Given the description of an element on the screen output the (x, y) to click on. 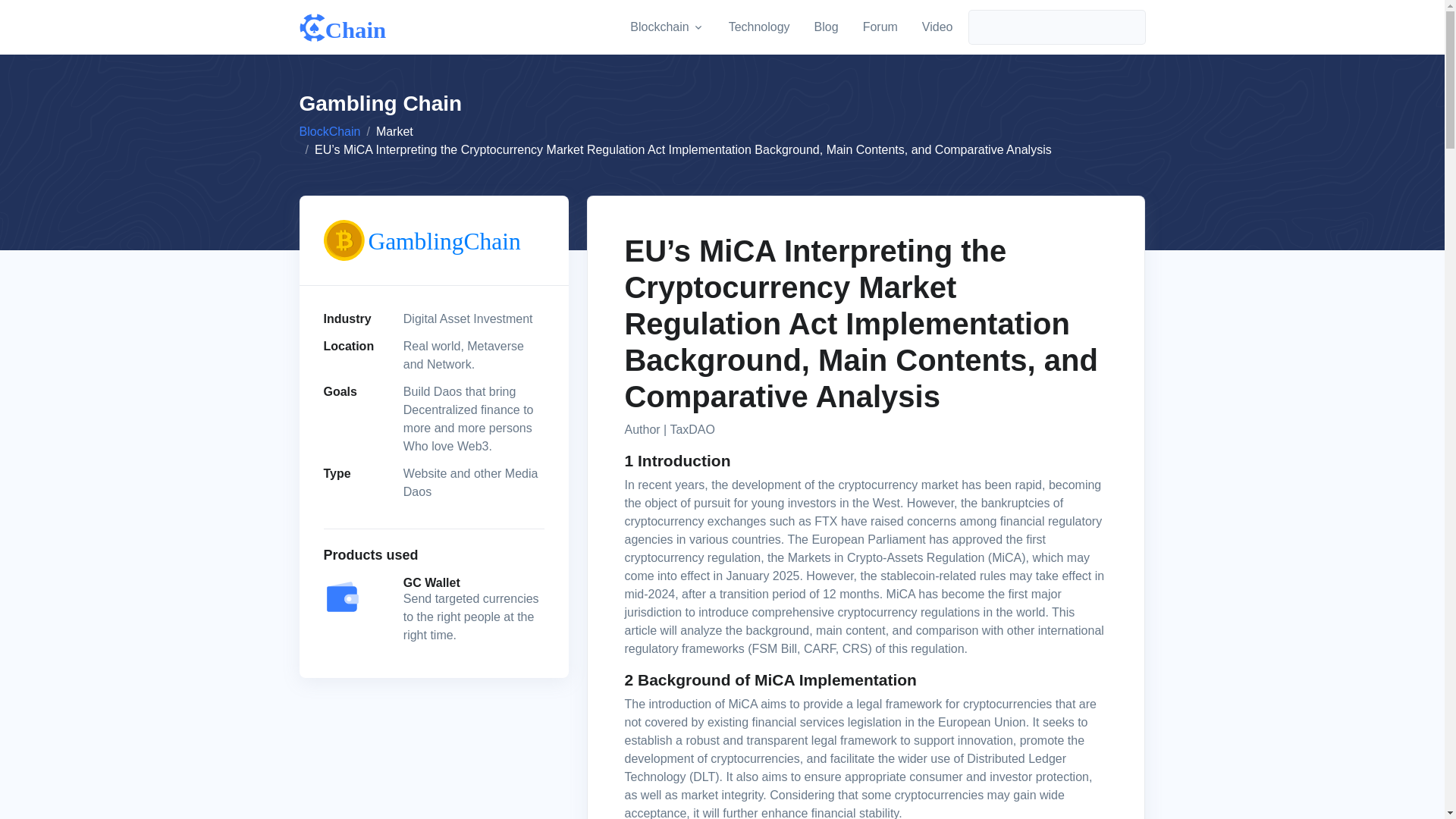
BlockChain (328, 131)
Forum (880, 26)
Video (937, 26)
Blog (826, 26)
Blockchain (667, 26)
Market (394, 131)
Technology (759, 26)
Gambling Chain (882, 26)
